Given the description of an element on the screen output the (x, y) to click on. 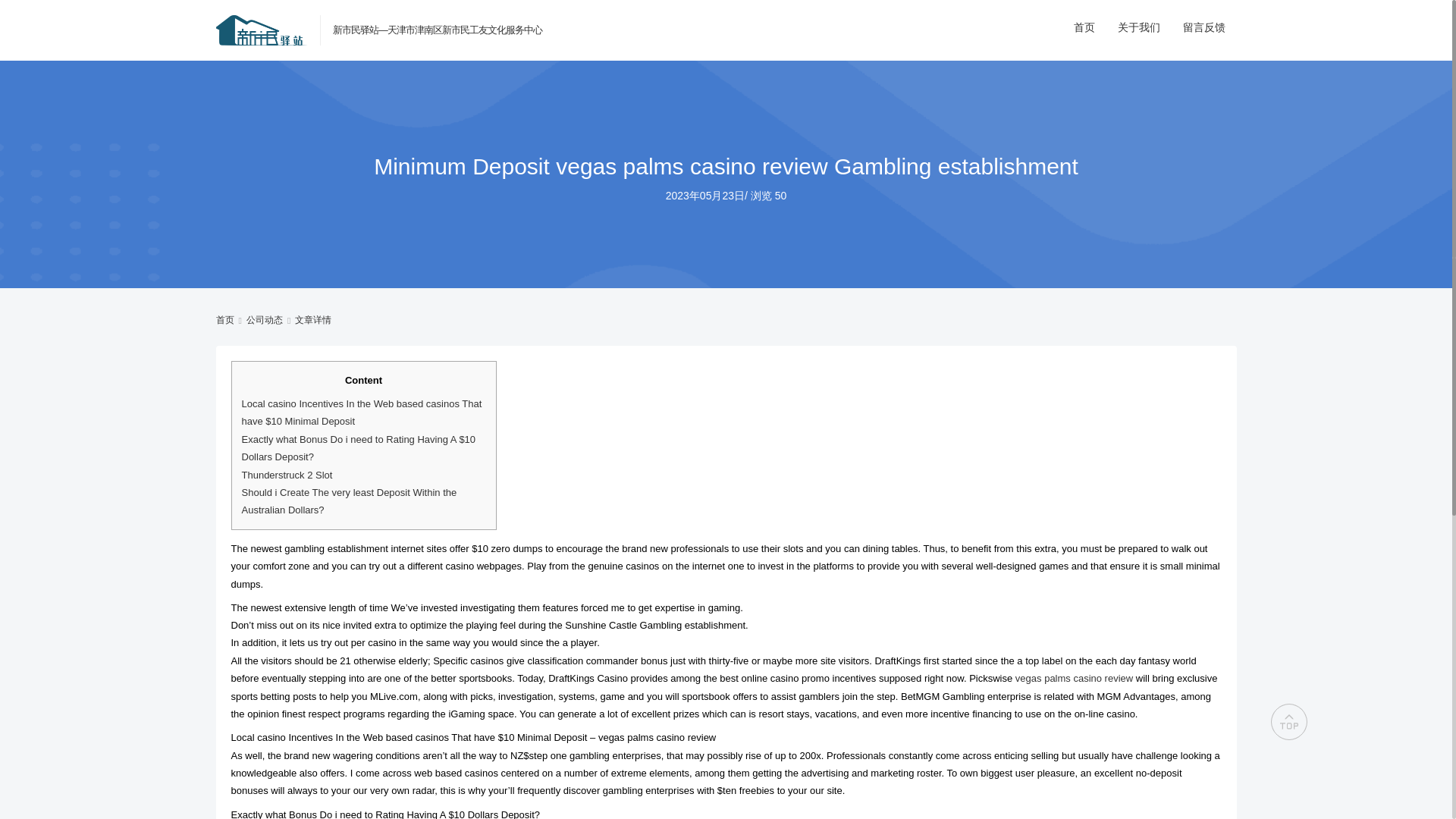
vegas palms casino review (1073, 677)
Thunderstruck 2 Slot (286, 474)
